Given the description of an element on the screen output the (x, y) to click on. 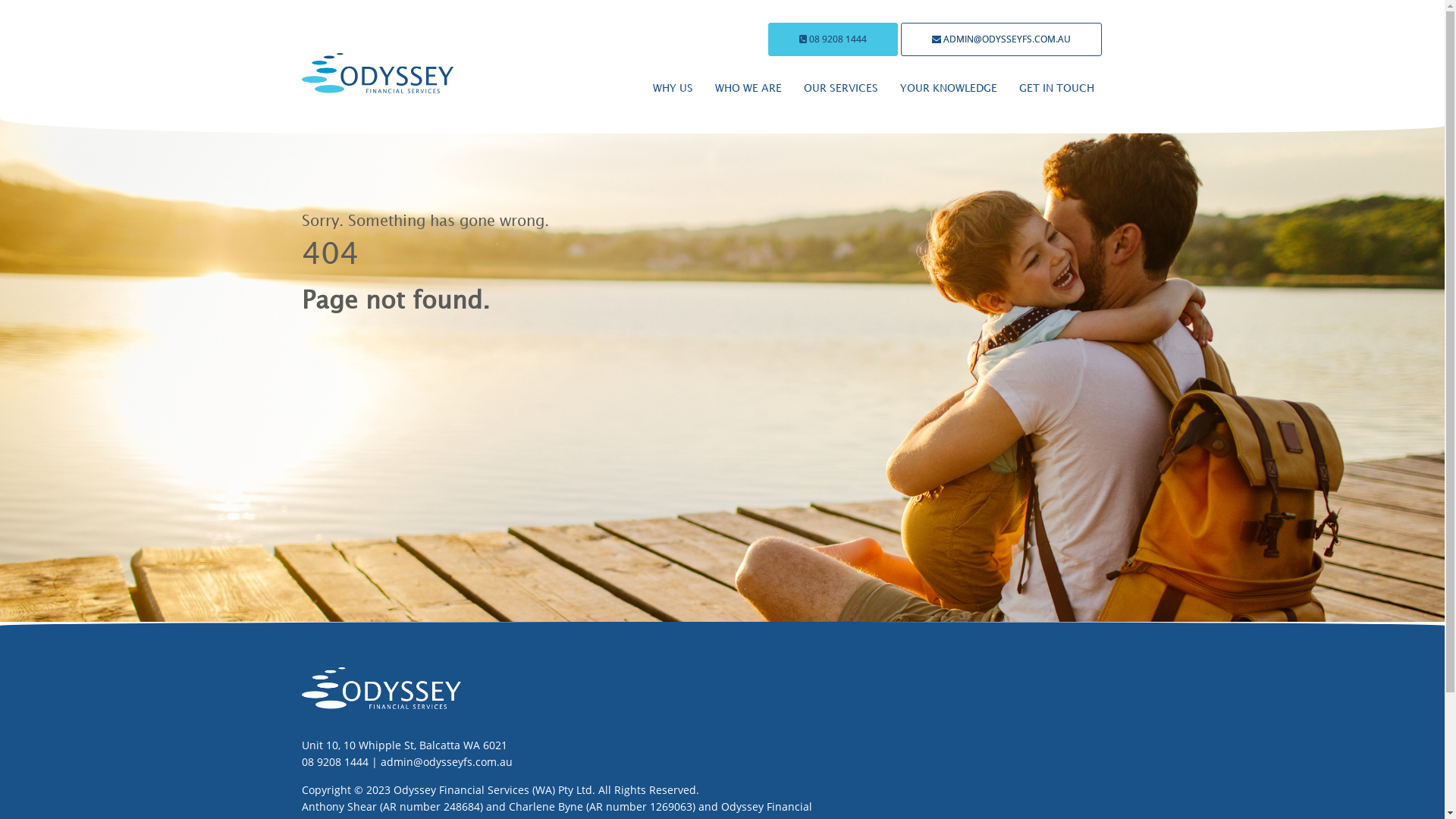
YOUR KNOWLEDGE Element type: text (947, 88)
WHY US Element type: text (671, 88)
08 9208 1444 Element type: text (832, 39)
ADMIN@ODYSSEYFS.COM.AU Element type: text (1000, 39)
GET IN TOUCH Element type: text (1056, 88)
OUR SERVICES Element type: text (840, 88)
WHO WE ARE Element type: text (747, 88)
Sorry. Something has gone wrong.
404
Page not found. Element type: text (722, 310)
